Given the description of an element on the screen output the (x, y) to click on. 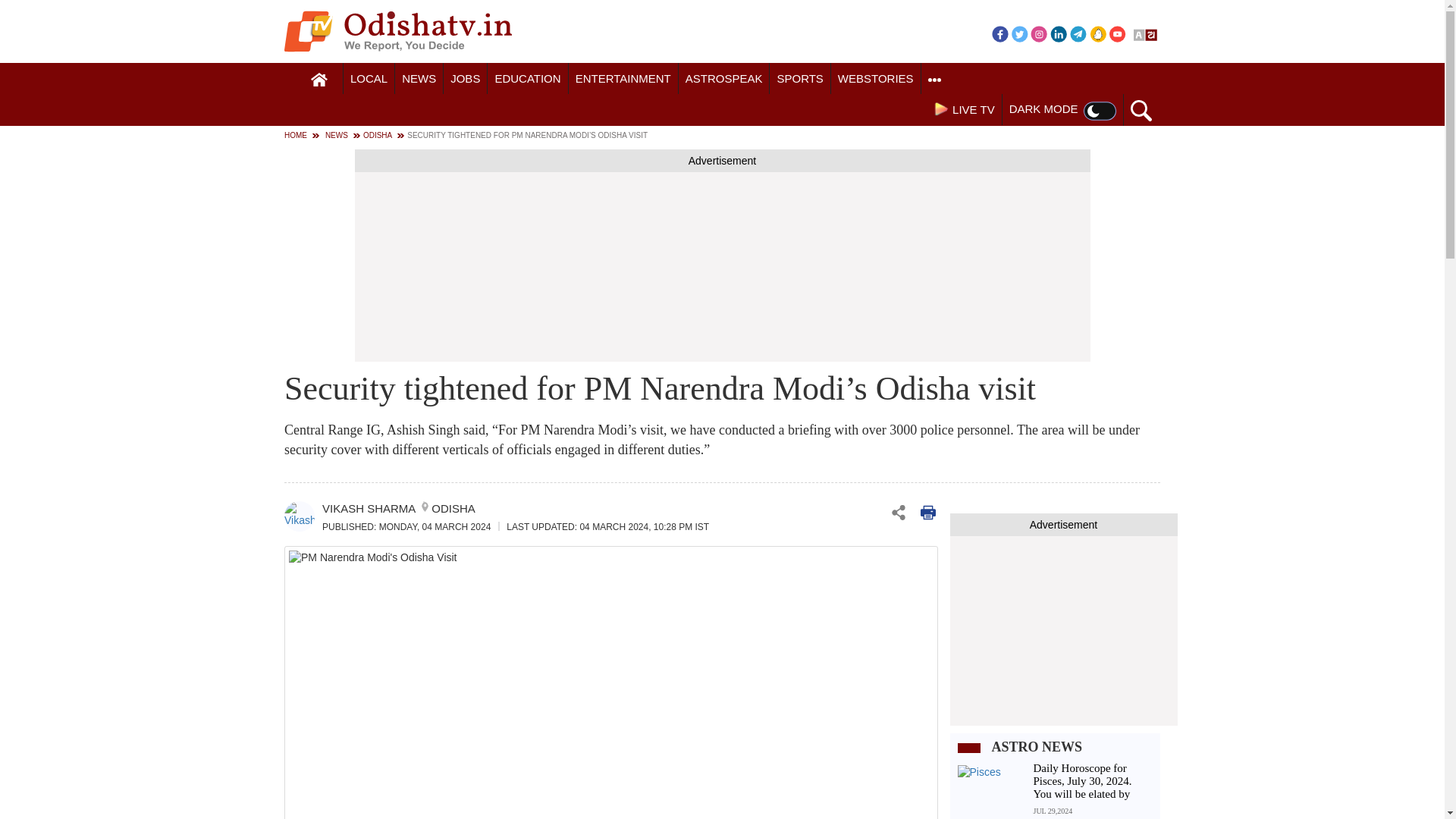
Koo (1097, 33)
Twitter (1019, 33)
Youtube (1117, 33)
ENTERTAINMENT (623, 78)
Home Icon (319, 79)
Telegram (1078, 33)
JOBS (465, 78)
Facebook (1000, 33)
EDUCATION (527, 78)
LOCAL (368, 78)
LinkedIn (1058, 33)
Instagram (1038, 33)
Odisha (368, 78)
OdishaTV (397, 31)
NEWS (418, 78)
